Given the description of an element on the screen output the (x, y) to click on. 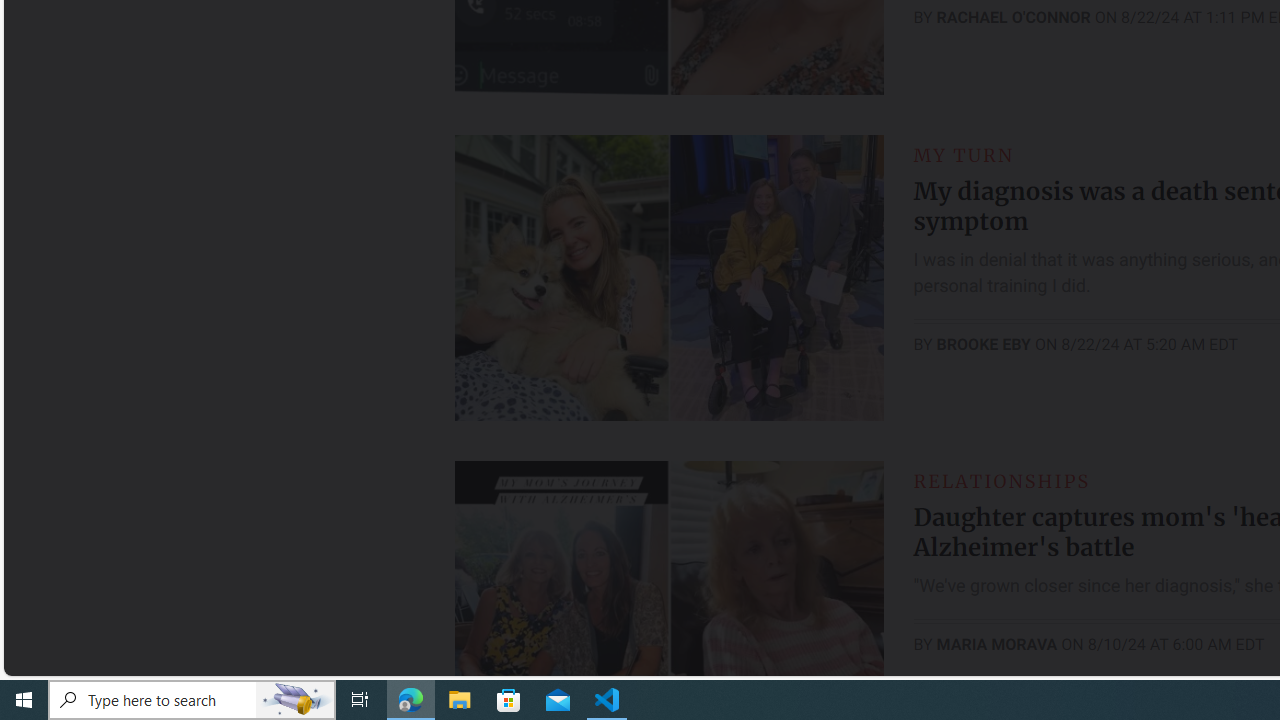
RELATIONSHIPS (1001, 480)
MY TURN (963, 155)
